Given the description of an element on the screen output the (x, y) to click on. 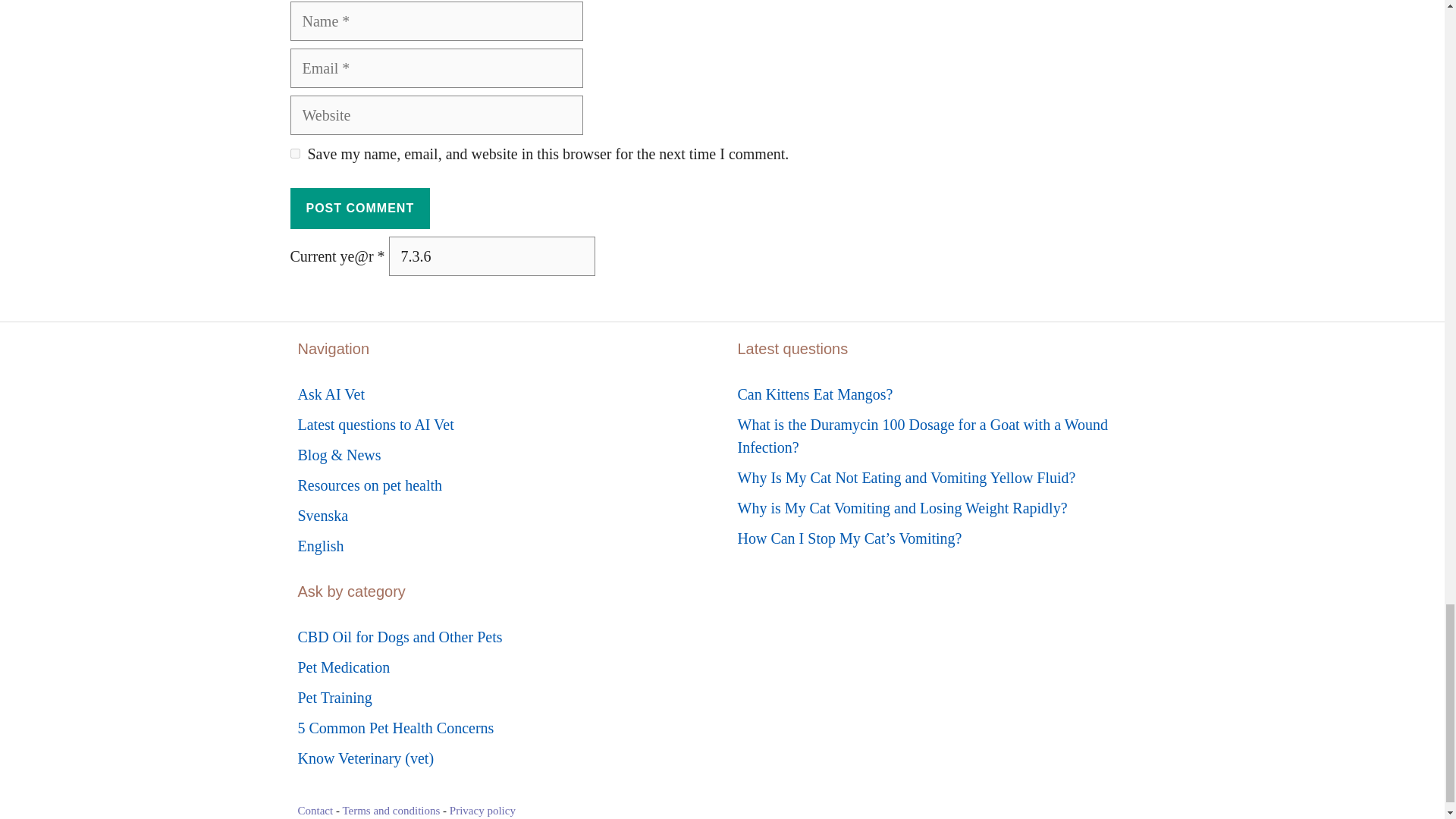
Pet Training (334, 697)
English (320, 545)
Latest questions to AI Vet (374, 424)
Terms and conditions (390, 810)
Contact (315, 810)
Why is My Cat Vomiting and Losing Weight Rapidly? (901, 507)
Post Comment (359, 208)
Why Is My Cat Not Eating and Vomiting Yellow Fluid? (905, 477)
Resources on pet health (369, 484)
